Given the description of an element on the screen output the (x, y) to click on. 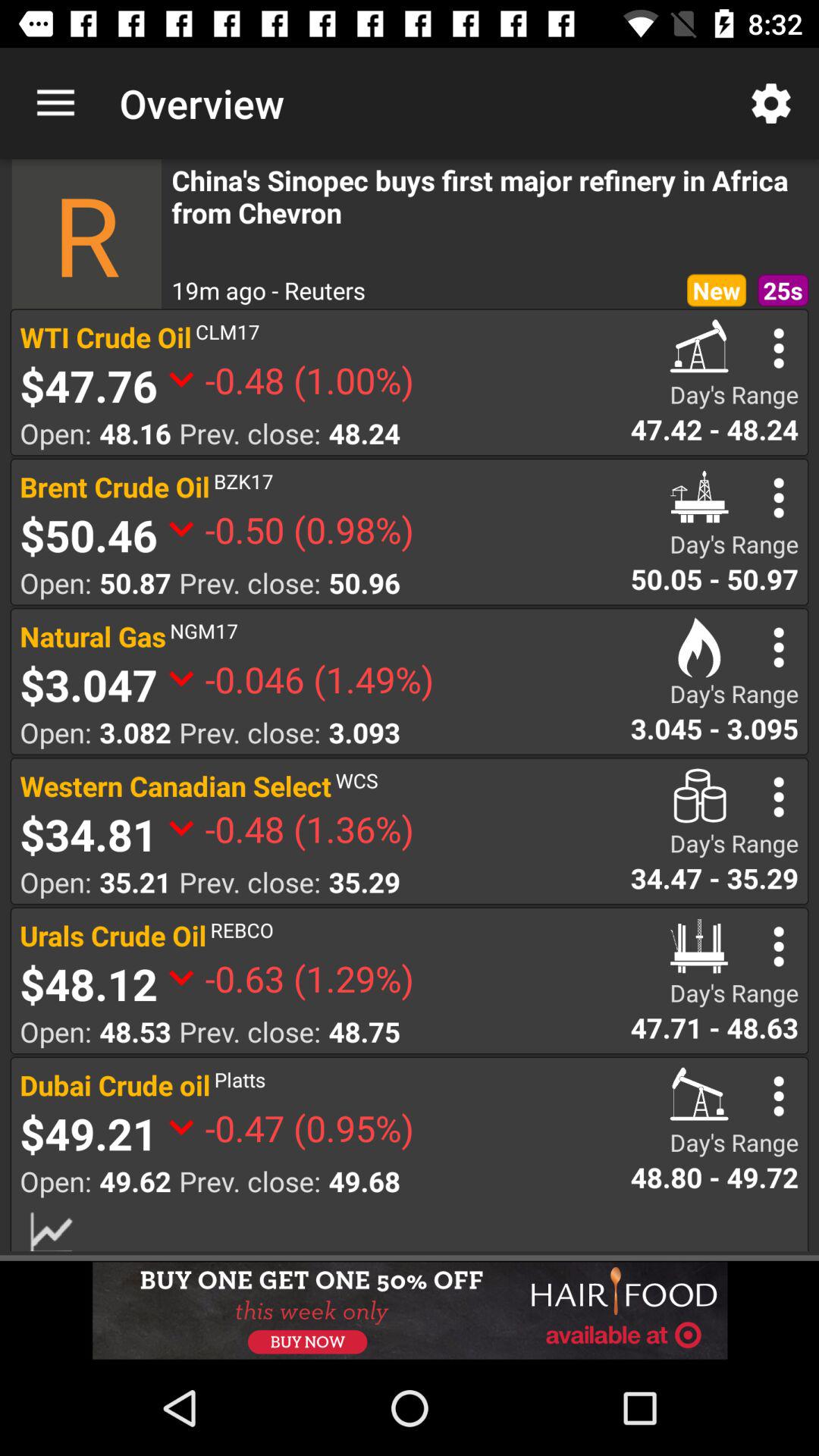
settings (778, 647)
